Given the description of an element on the screen output the (x, y) to click on. 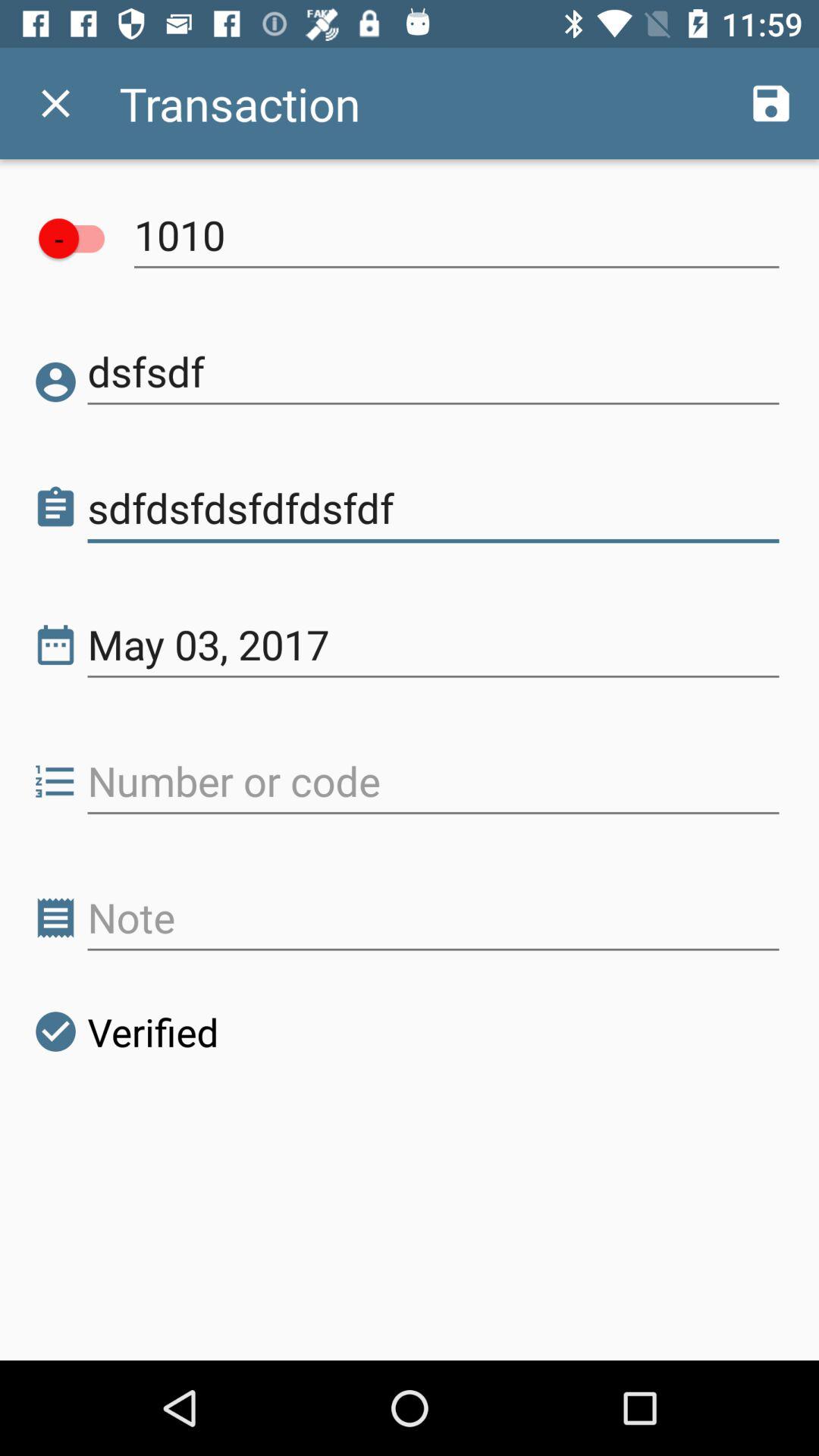
launch icon to the right of the transaction (771, 103)
